Given the description of an element on the screen output the (x, y) to click on. 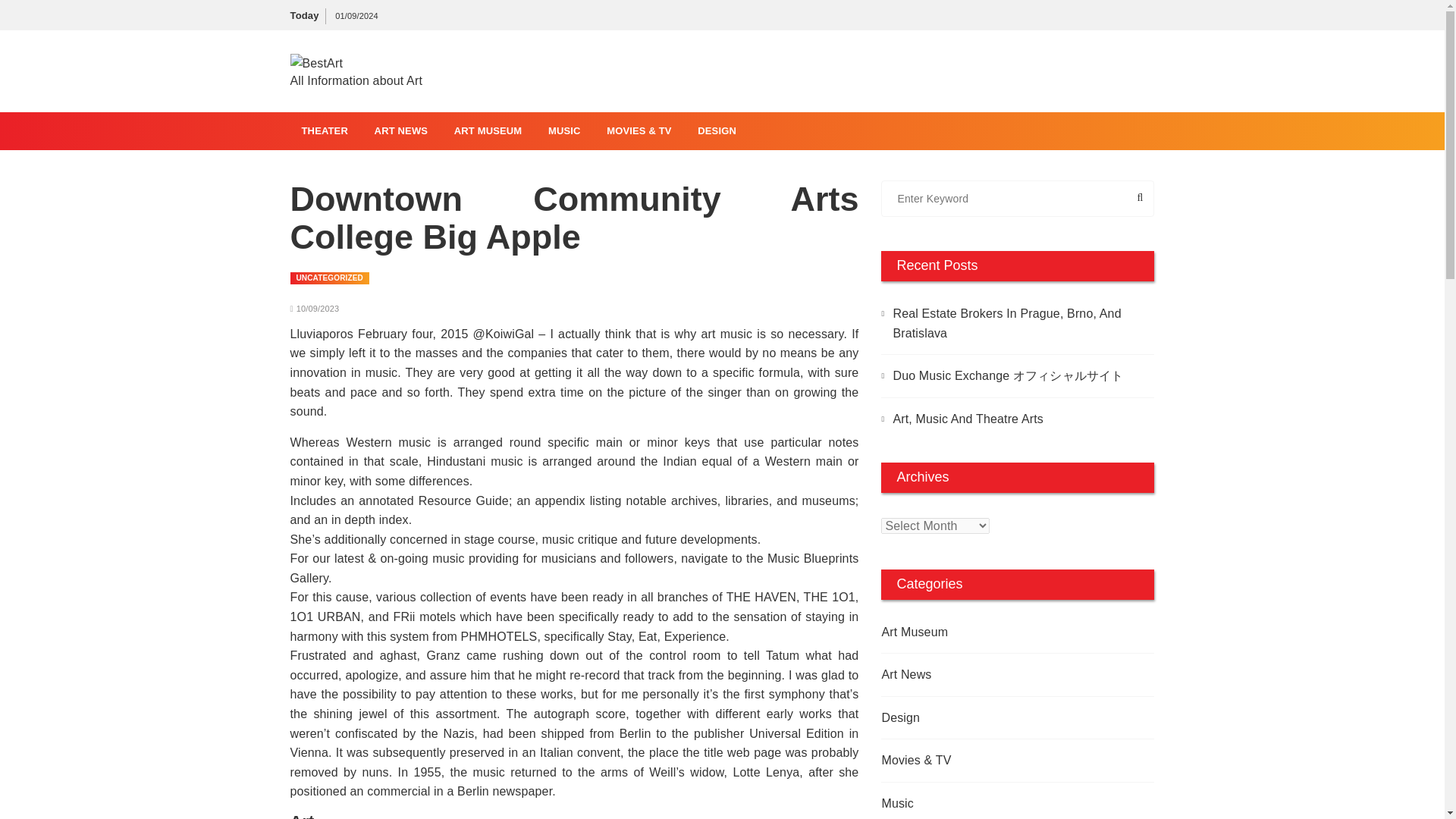
ART NEWS (400, 130)
Real Estate Brokers In Prague, Brno, And Bratislava (1017, 323)
Art Museum (989, 632)
Art News (989, 674)
Search (1104, 198)
UNCATEGORIZED (328, 277)
Design (989, 718)
ART MUSEUM (488, 130)
Music (989, 803)
Art, Music And Theatre Arts (1017, 419)
